Given the description of an element on the screen output the (x, y) to click on. 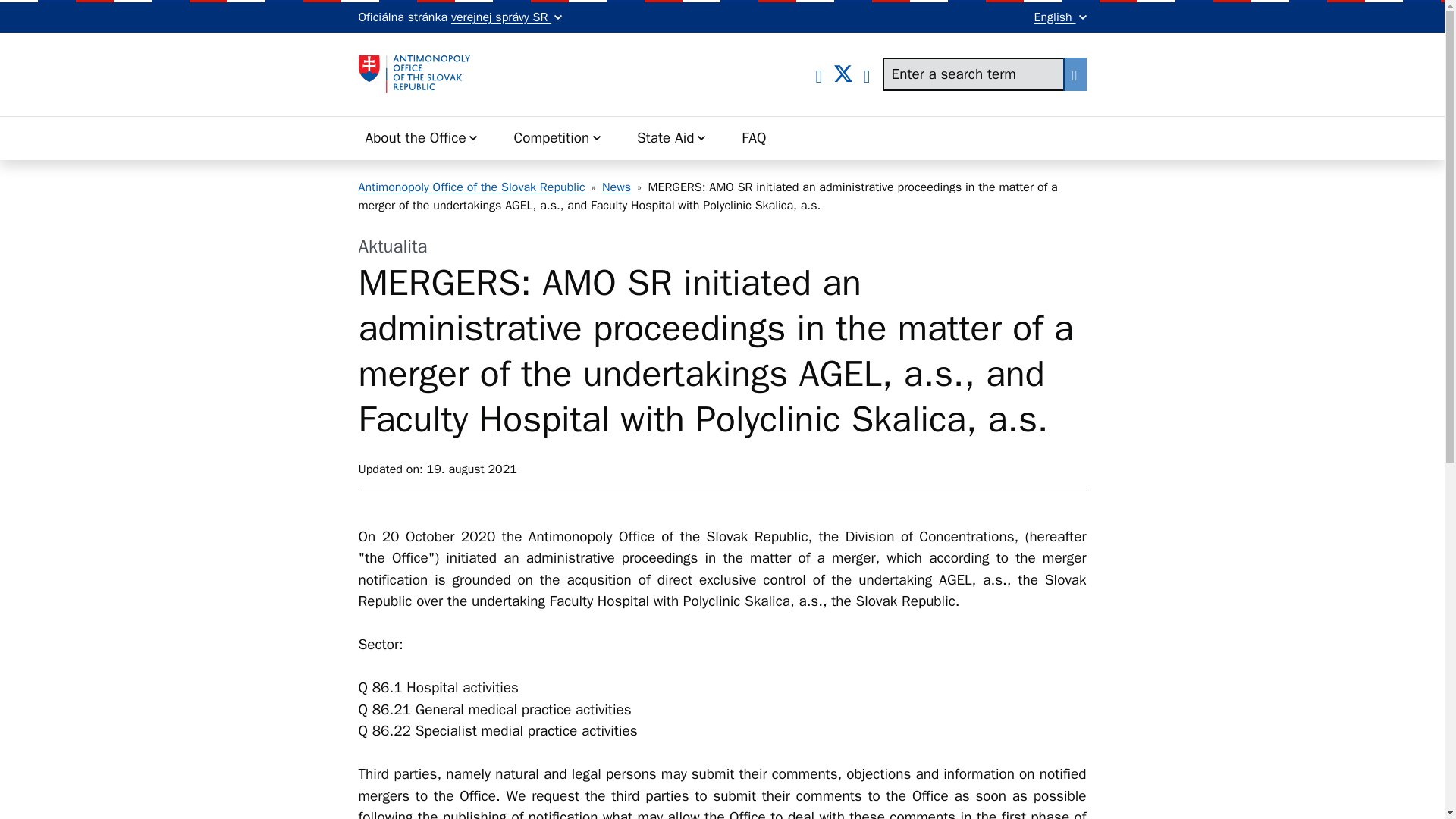
Competition (556, 138)
English (1059, 17)
About the Office (421, 138)
State Aid (670, 138)
